Given the description of an element on the screen output the (x, y) to click on. 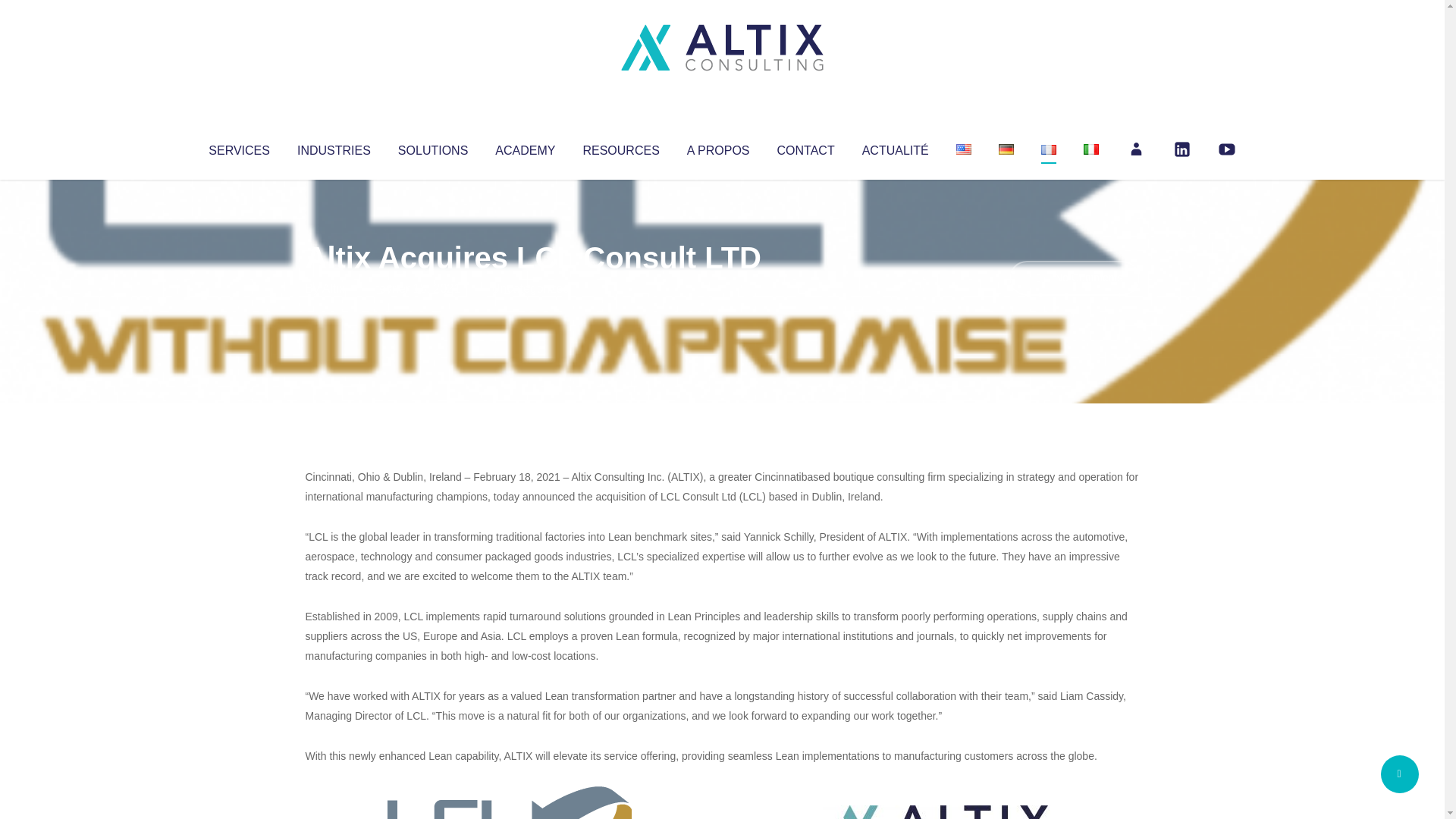
Uncategorized (530, 287)
Altix (333, 287)
SOLUTIONS (432, 146)
ACADEMY (524, 146)
RESOURCES (620, 146)
SERVICES (238, 146)
No Comments (1073, 278)
INDUSTRIES (334, 146)
Articles par Altix (333, 287)
A PROPOS (718, 146)
